Given the description of an element on the screen output the (x, y) to click on. 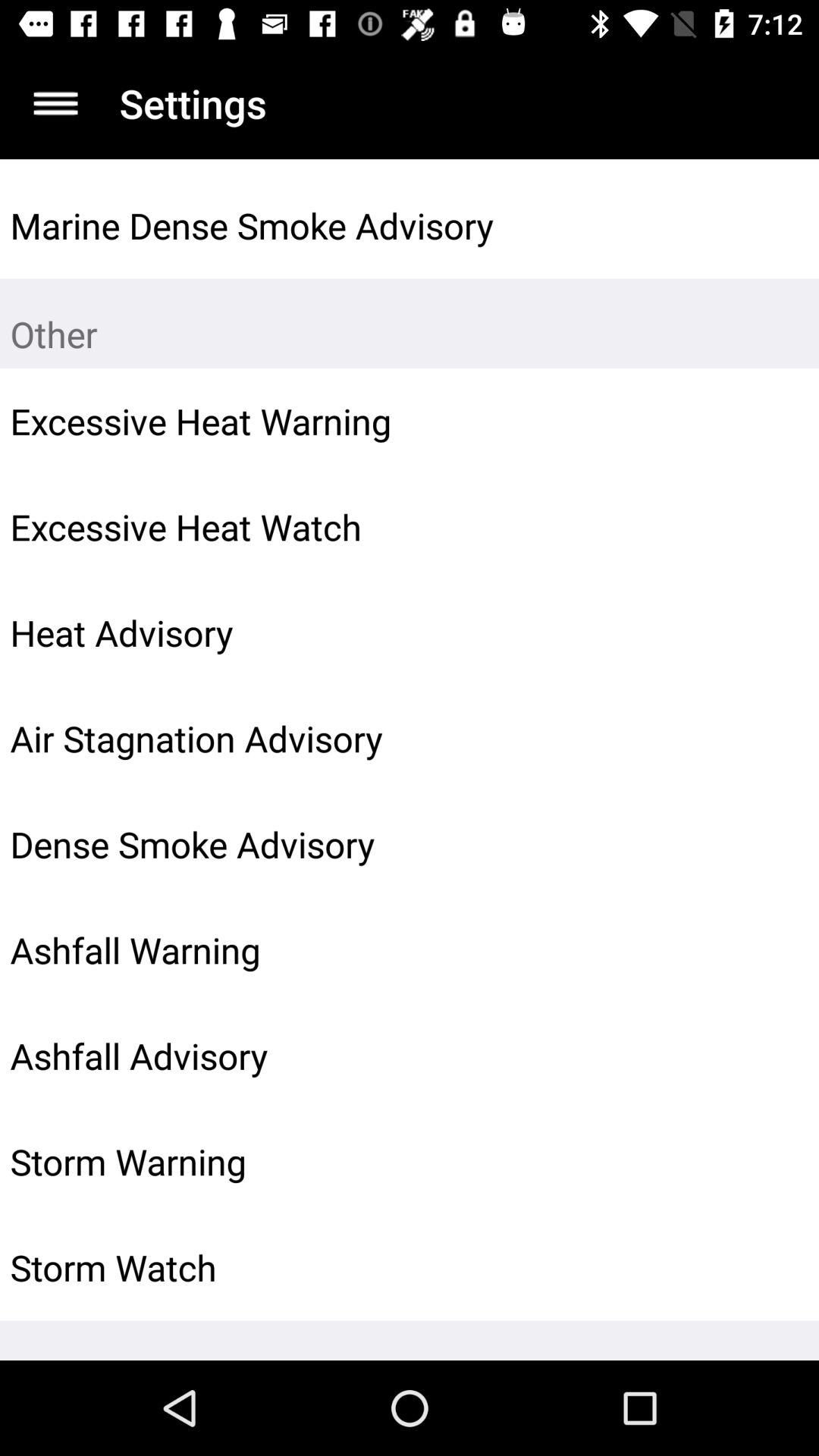
display menu (55, 103)
